Given the description of an element on the screen output the (x, y) to click on. 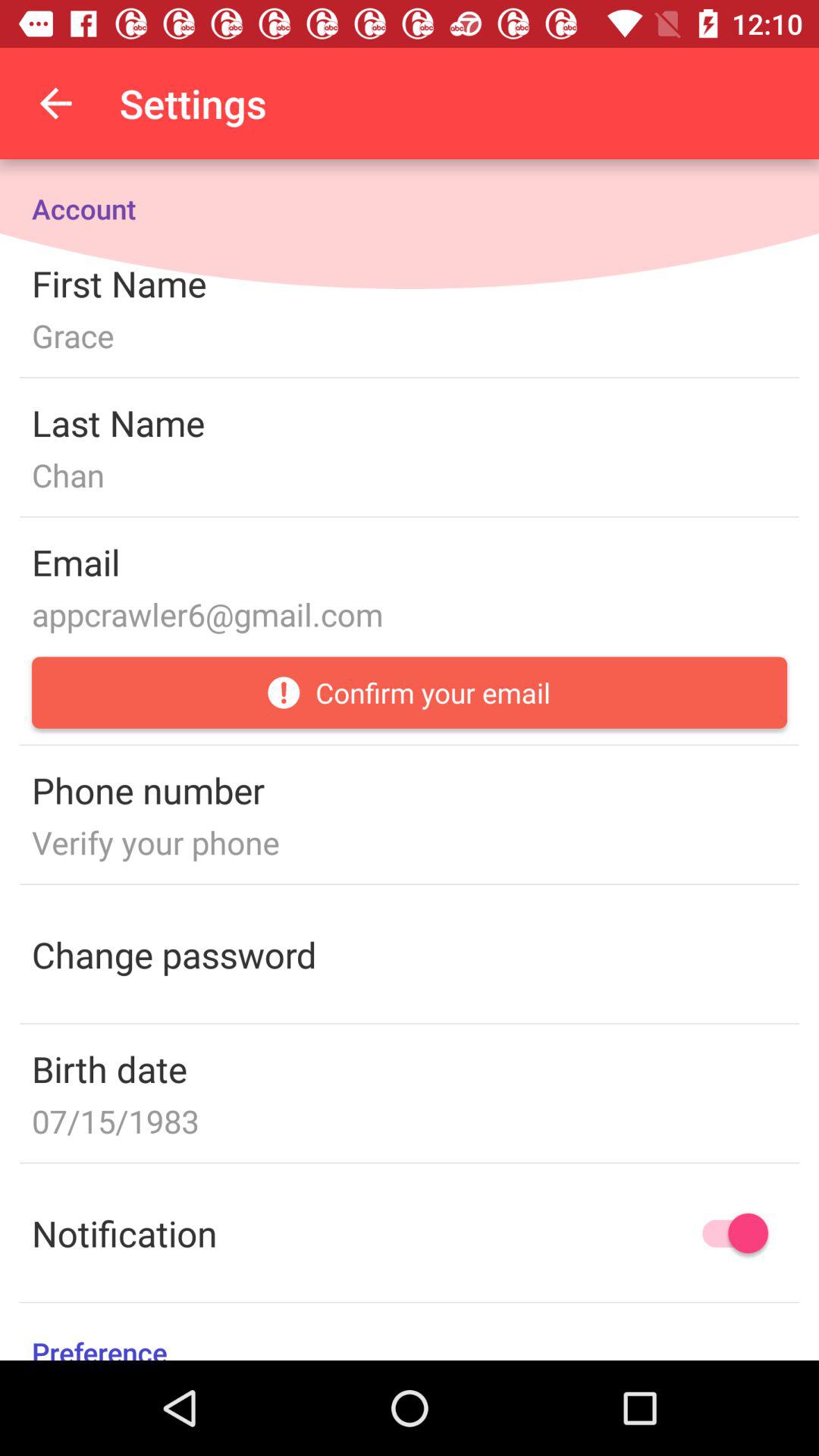
on off button (727, 1233)
